Given the description of an element on the screen output the (x, y) to click on. 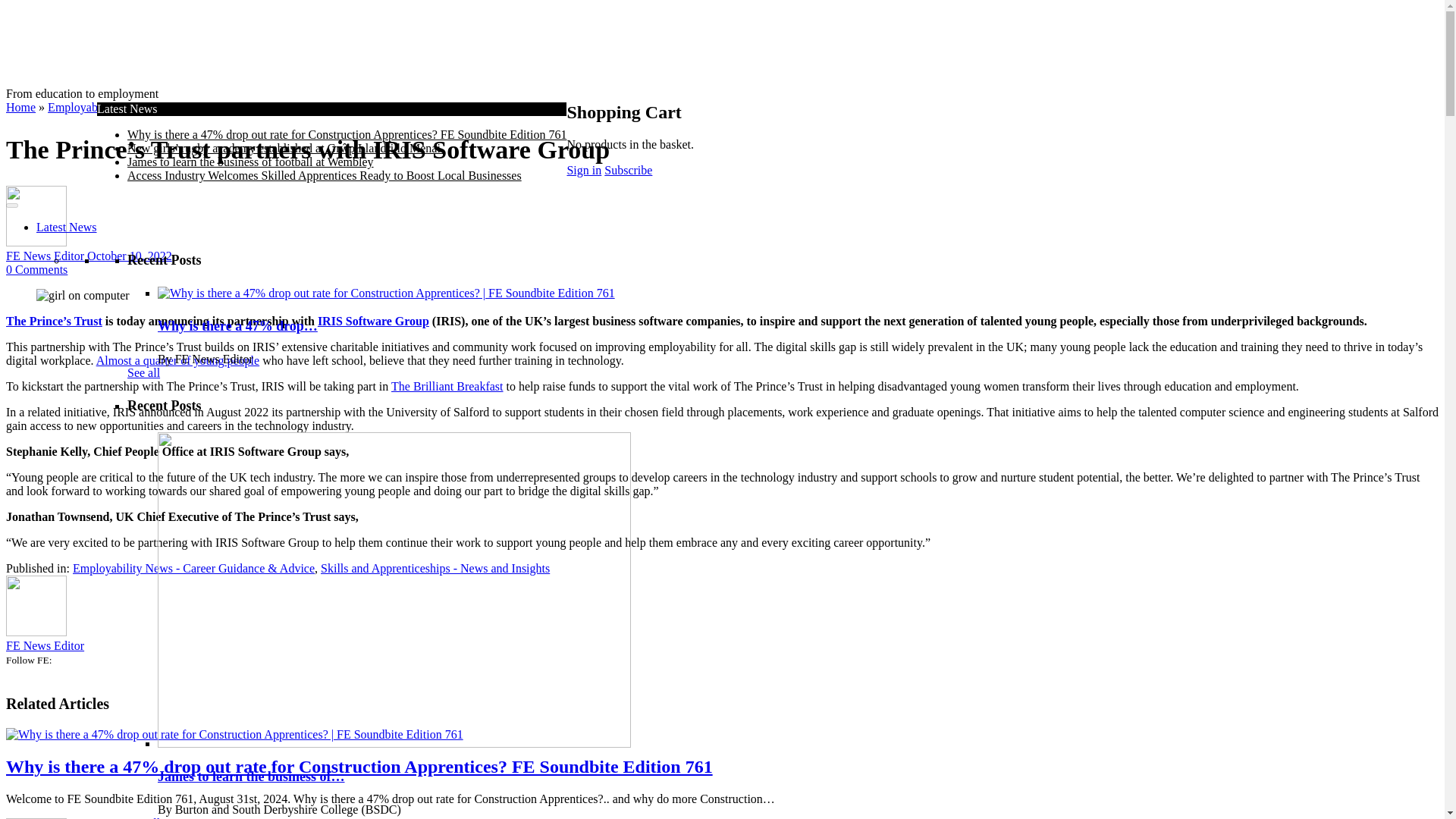
Subscribe (628, 169)
Latest News (66, 226)
See all (144, 372)
See all (144, 817)
James to learn the business of football at Wembley (251, 161)
Sign in (583, 169)
